Given the description of an element on the screen output the (x, y) to click on. 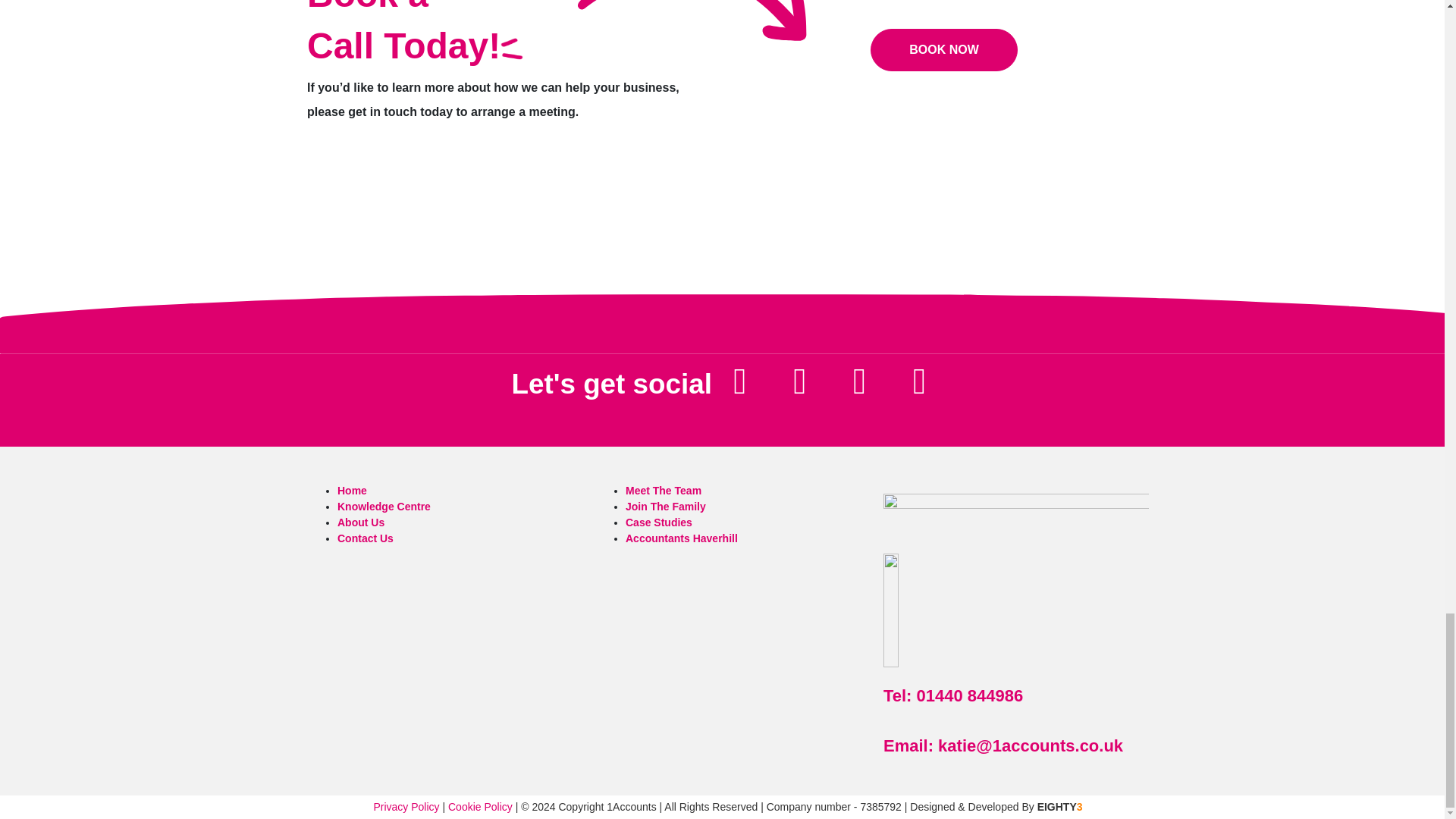
Knowledge Centre (383, 506)
BOOK NOW (943, 49)
Home (351, 490)
